Given the description of an element on the screen output the (x, y) to click on. 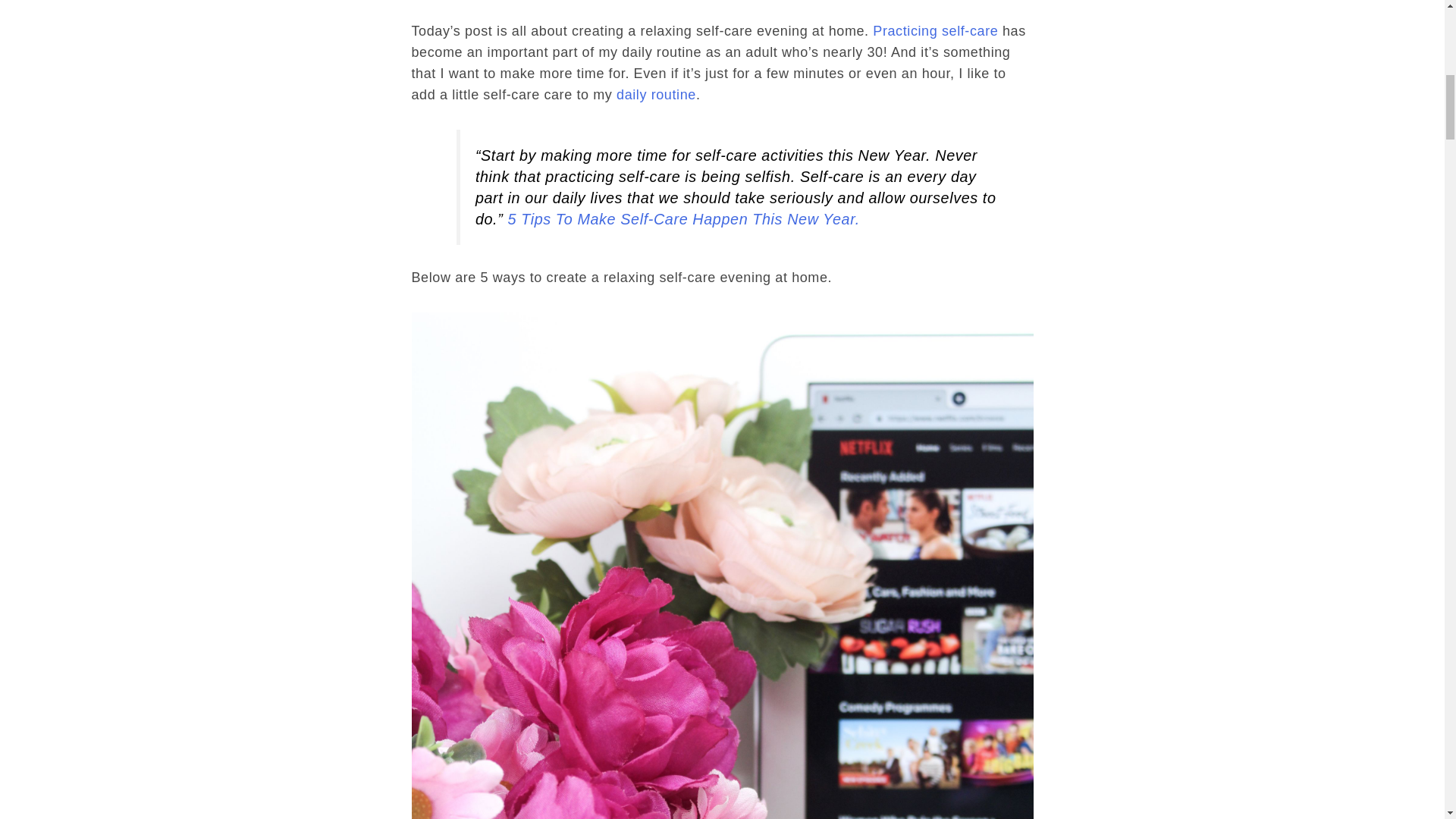
5 Tips To Make Self-Care Happen This New Year. (682, 218)
Practicing self-care (934, 30)
daily routine (655, 94)
